Given the description of an element on the screen output the (x, y) to click on. 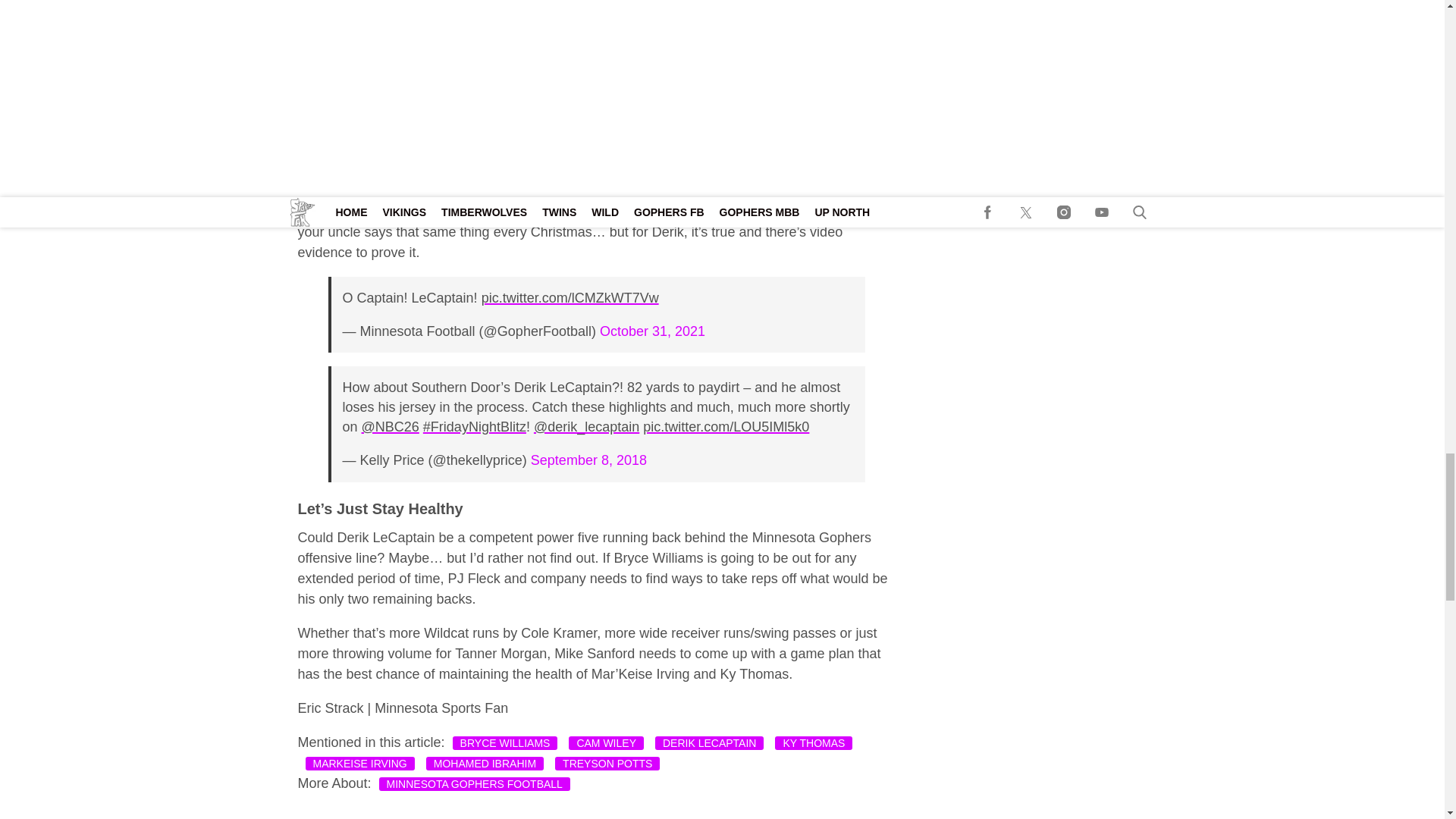
September 8, 2018 (588, 459)
October 31, 2021 (651, 331)
Backup Sophomore LINEBACKER (735, 136)
